Given the description of an element on the screen output the (x, y) to click on. 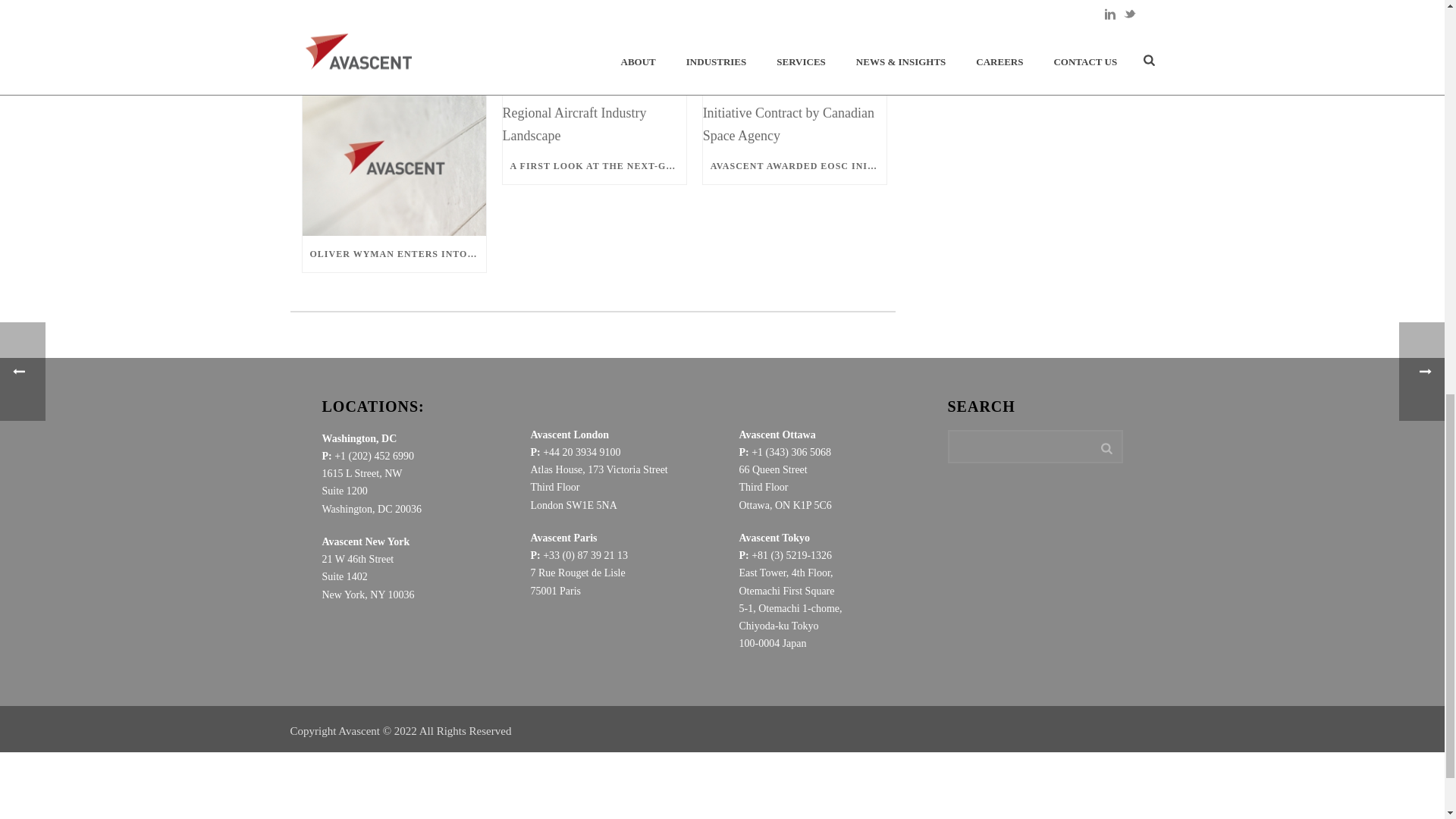
OLIVER WYMAN ENTERS INTO AGREEMENT TO ACQUIRE AVASCENT (392, 253)
Oliver Wyman Enters into Agreement to Acquire Avascent (392, 157)
